Given the description of an element on the screen output the (x, y) to click on. 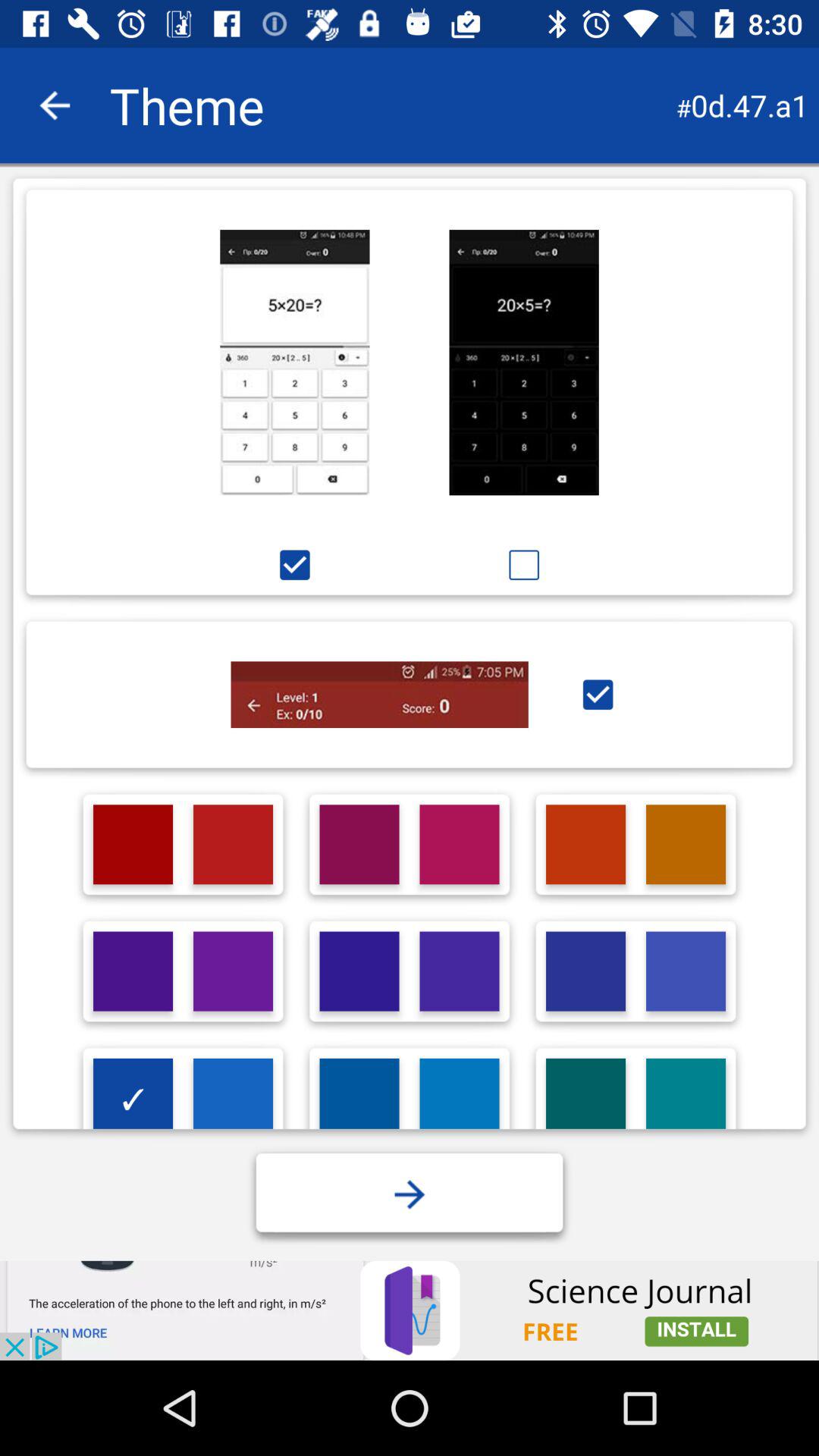
select color (685, 971)
